Given the description of an element on the screen output the (x, y) to click on. 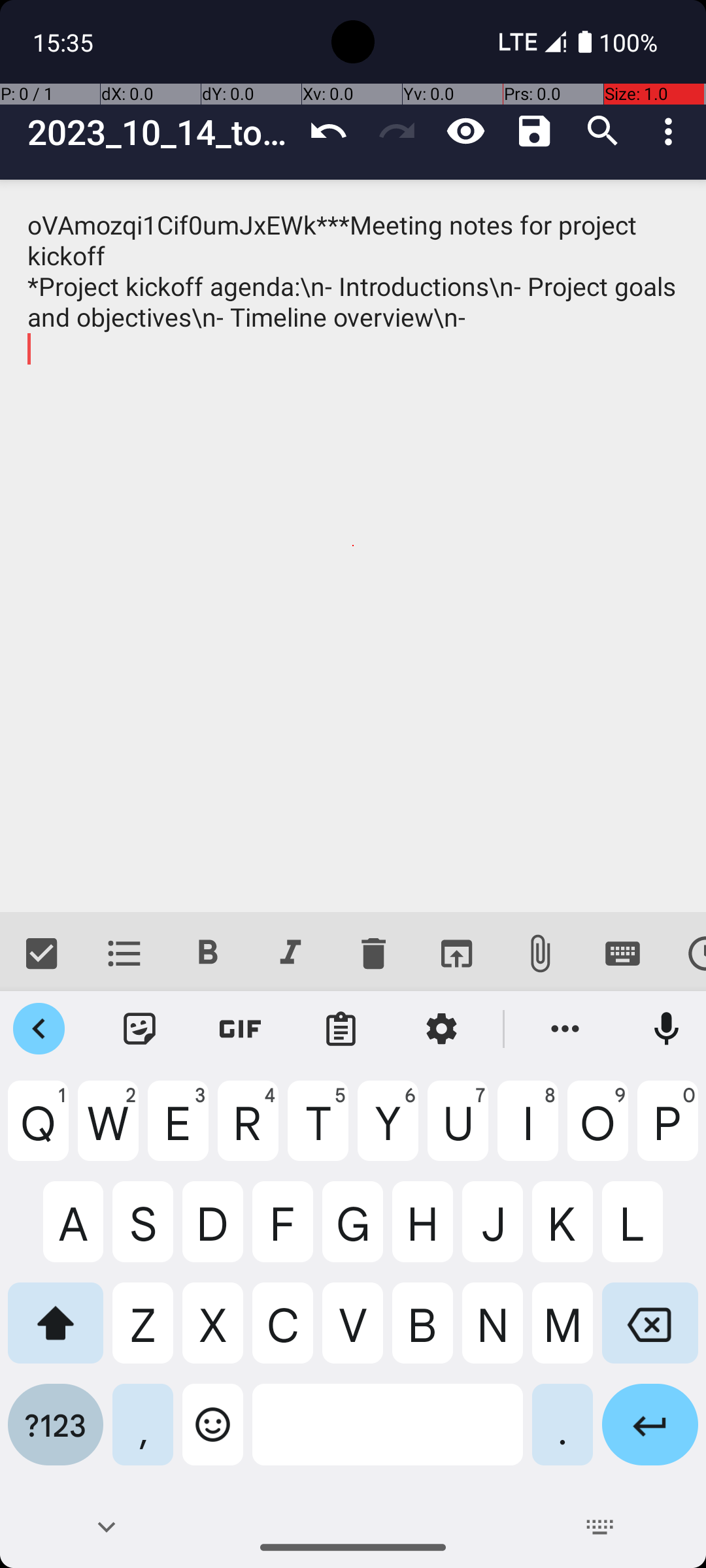
2023_10_14_tough_mouse_2023_04_01 Element type: android.widget.TextView (160, 131)
oVAmozqi1Cif0umJxEWk***Meeting notes for project kickoff
*Project kickoff agenda:\n- Introductions\n- Project goals and objectives\n- Timeline overview\n-
 Element type: android.widget.EditText (353, 545)
